Given the description of an element on the screen output the (x, y) to click on. 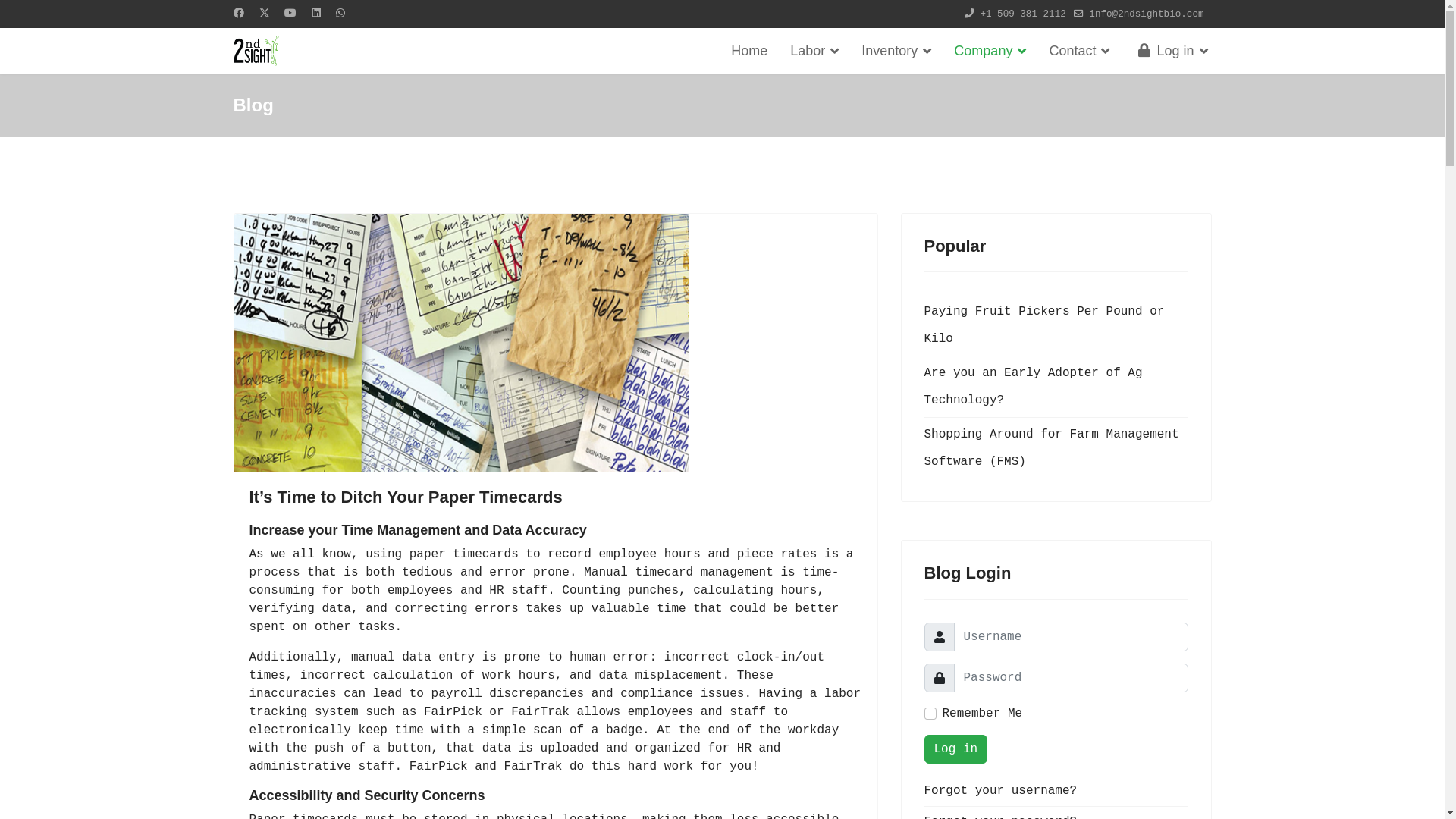
Labor Element type: text (814, 50)
Shopping Around for Farm Management Software (FMS) Element type: text (1055, 447)
Are you an Early Adopter of Ag Technology? Element type: text (1055, 386)
Inventory Element type: text (896, 50)
Forgot your username? Element type: text (1055, 790)
Contact Element type: text (1078, 50)
Log in Element type: text (955, 748)
Paying Fruit Pickers Per Pound or Kilo Element type: text (1055, 325)
Company Element type: text (989, 50)
info@2ndsightbio.com Element type: text (1145, 14)
Home Element type: text (748, 50)
+1 509 381 2112 Element type: text (1022, 14)
Log in Element type: text (1163, 50)
